Given the description of an element on the screen output the (x, y) to click on. 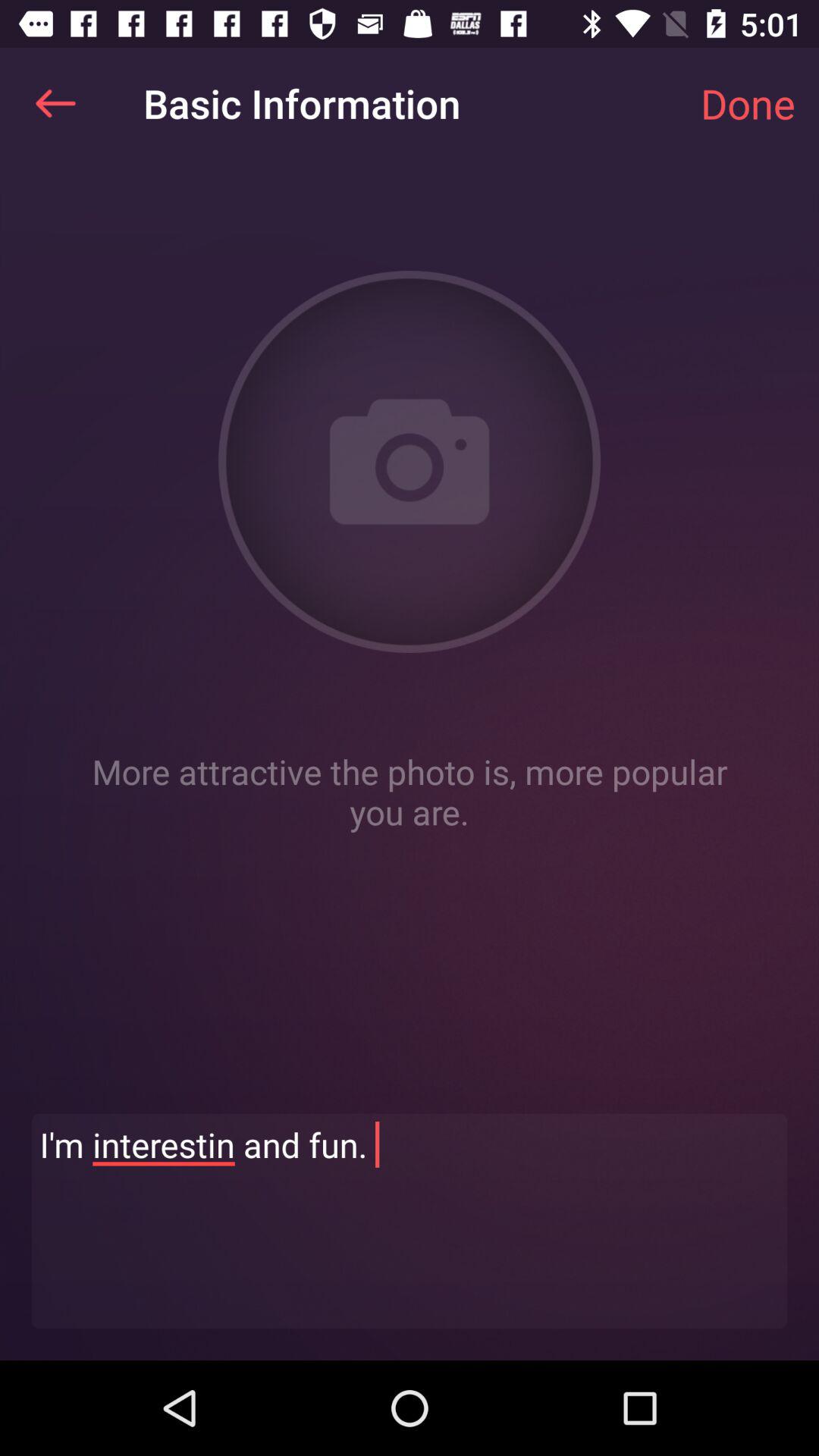
scroll to the i m interestin icon (409, 1220)
